Given the description of an element on the screen output the (x, y) to click on. 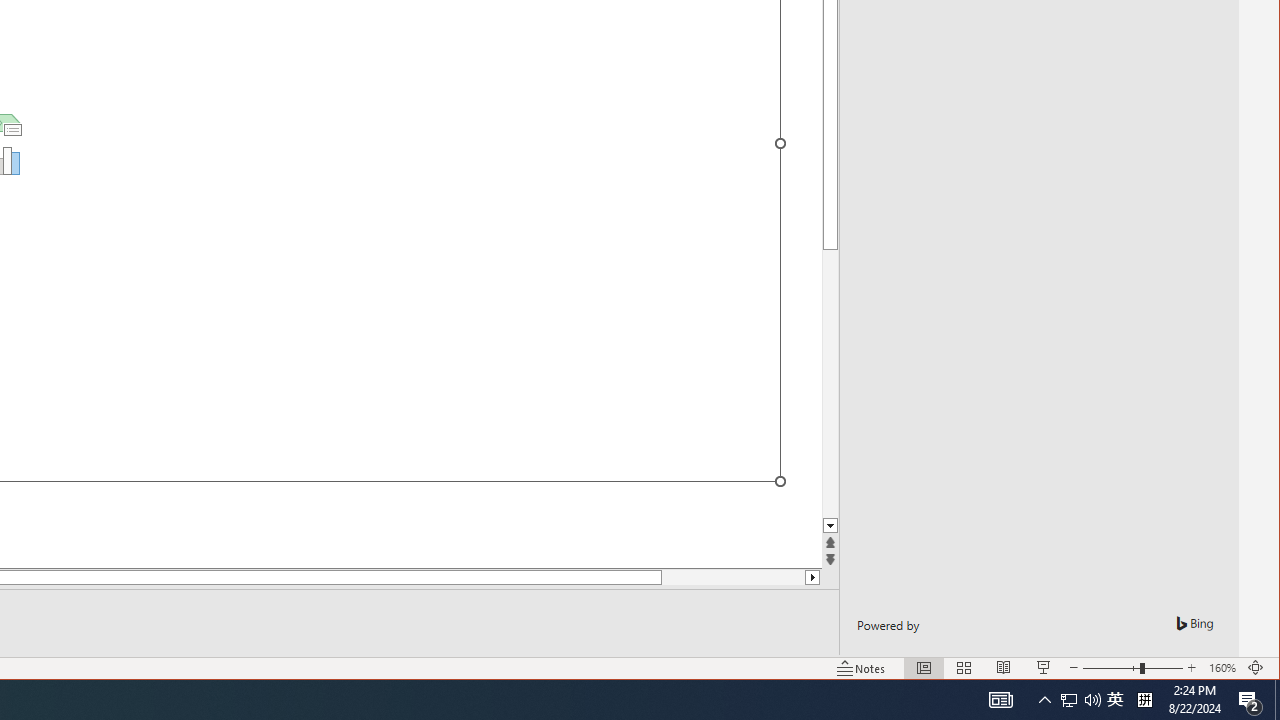
Show desktop (1277, 699)
Line down (829, 525)
Page down (764, 577)
Q2790: 100% (1092, 699)
User Promoted Notification Area (1080, 699)
Notification Chevron (1115, 699)
Action Center, 2 new notifications (1044, 699)
Tray Input Indicator - Chinese (Simplified, China) (1250, 699)
